Given the description of an element on the screen output the (x, y) to click on. 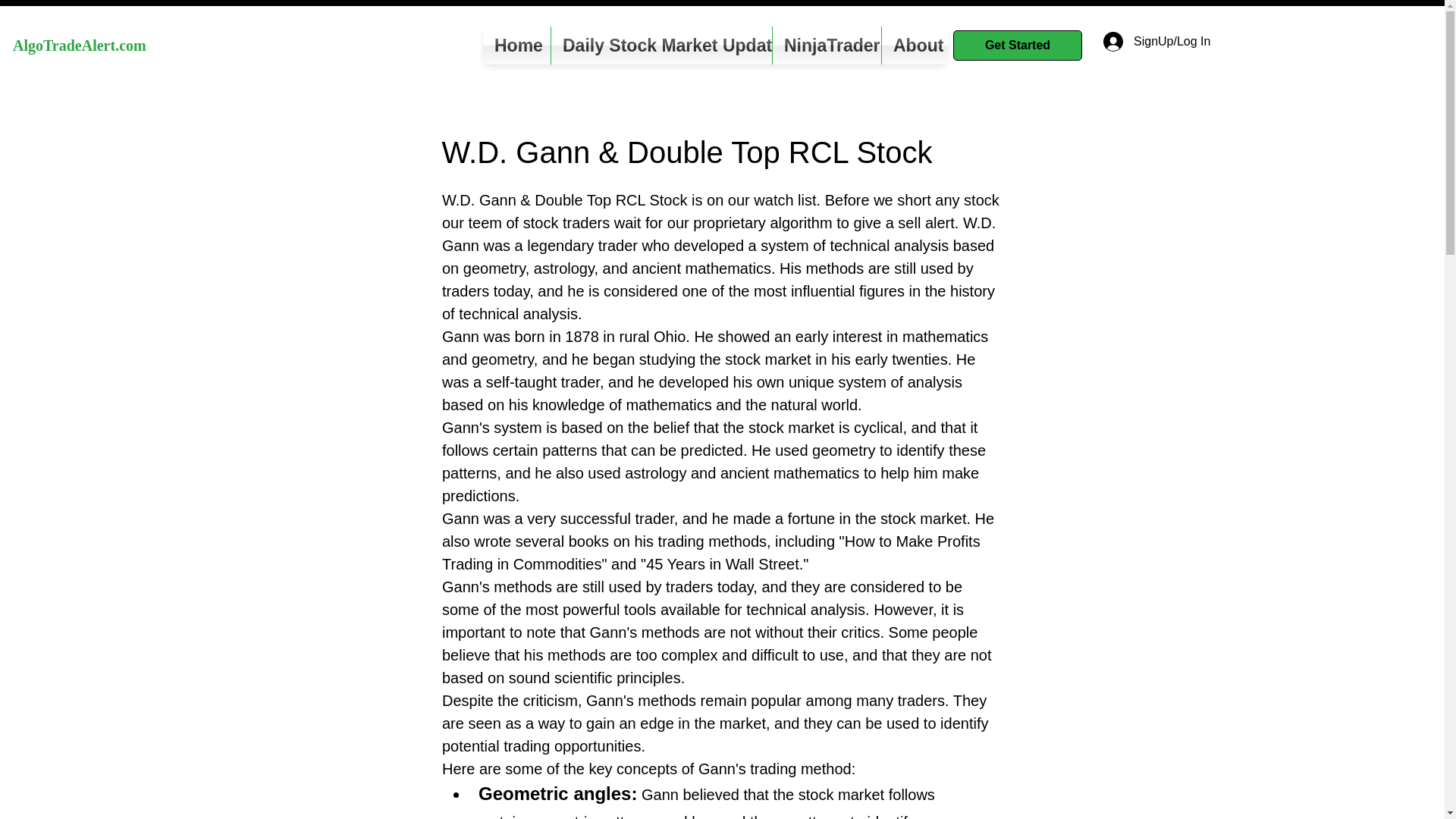
Home (516, 45)
AlgoTradeAlert.com (80, 45)
About (914, 45)
Get Started (1017, 45)
Daily Stock Market Update (661, 45)
